Given the description of an element on the screen output the (x, y) to click on. 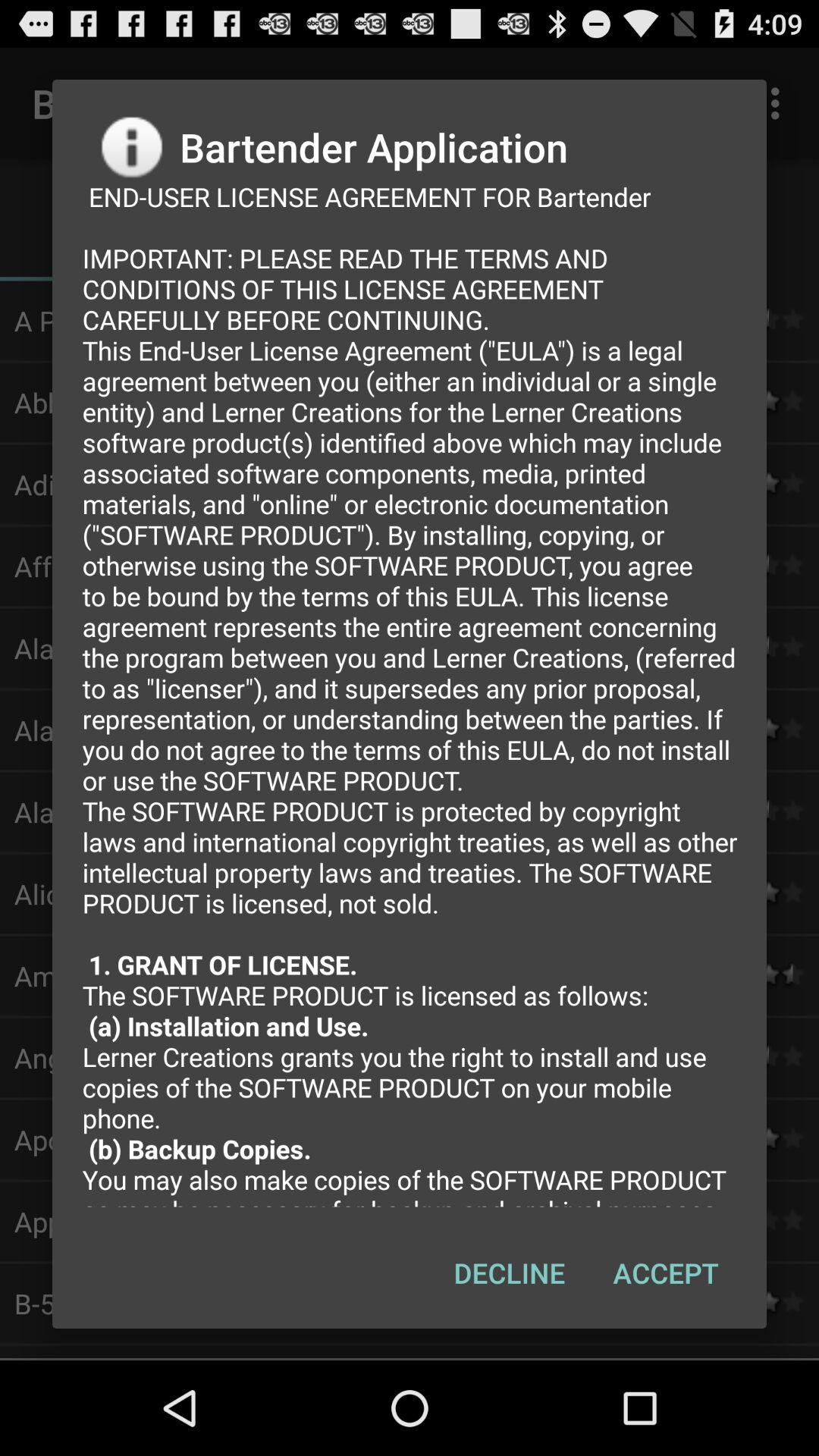
click the icon next to decline button (665, 1272)
